Given the description of an element on the screen output the (x, y) to click on. 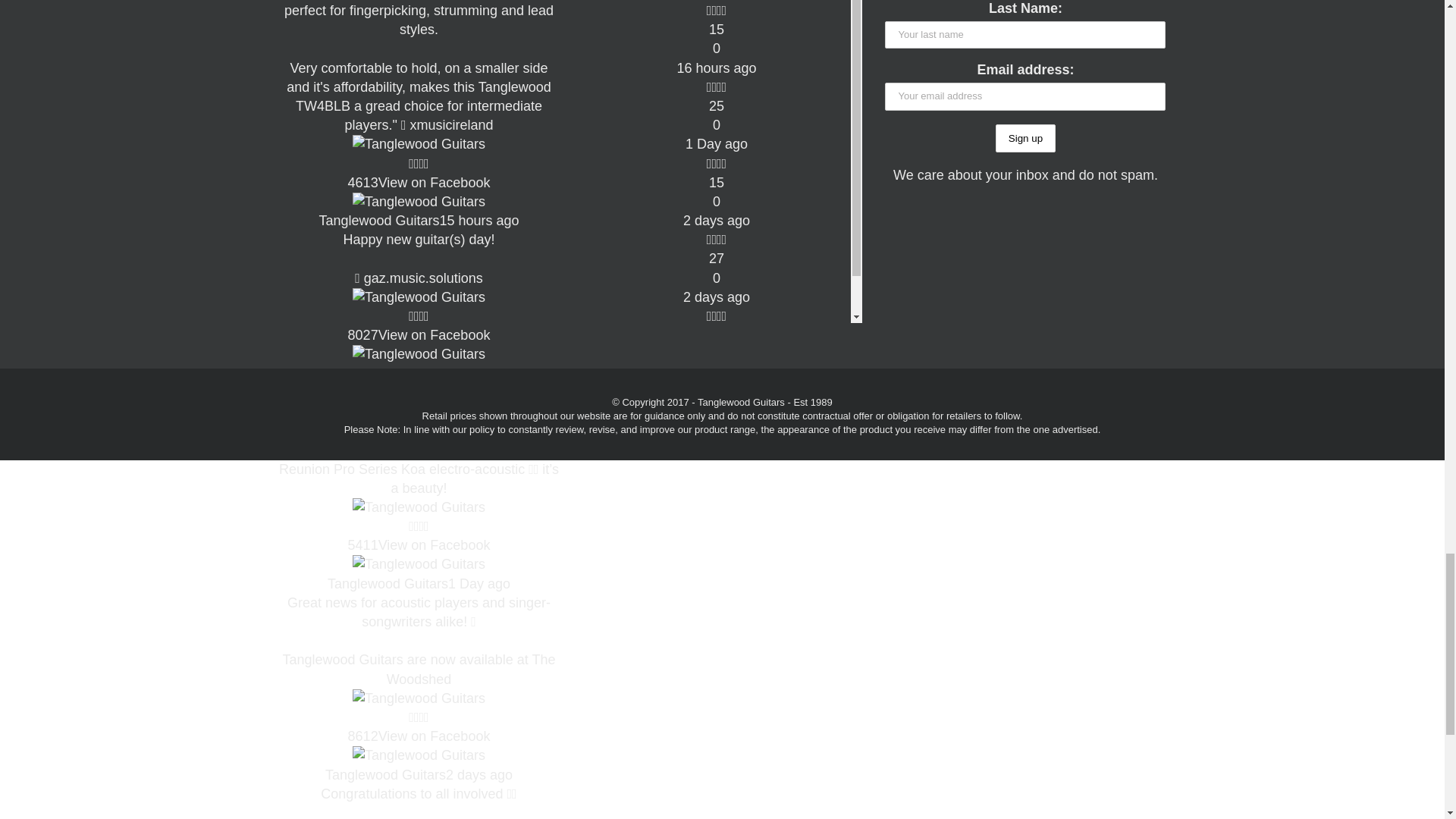
Sign up (1025, 138)
